Given the description of an element on the screen output the (x, y) to click on. 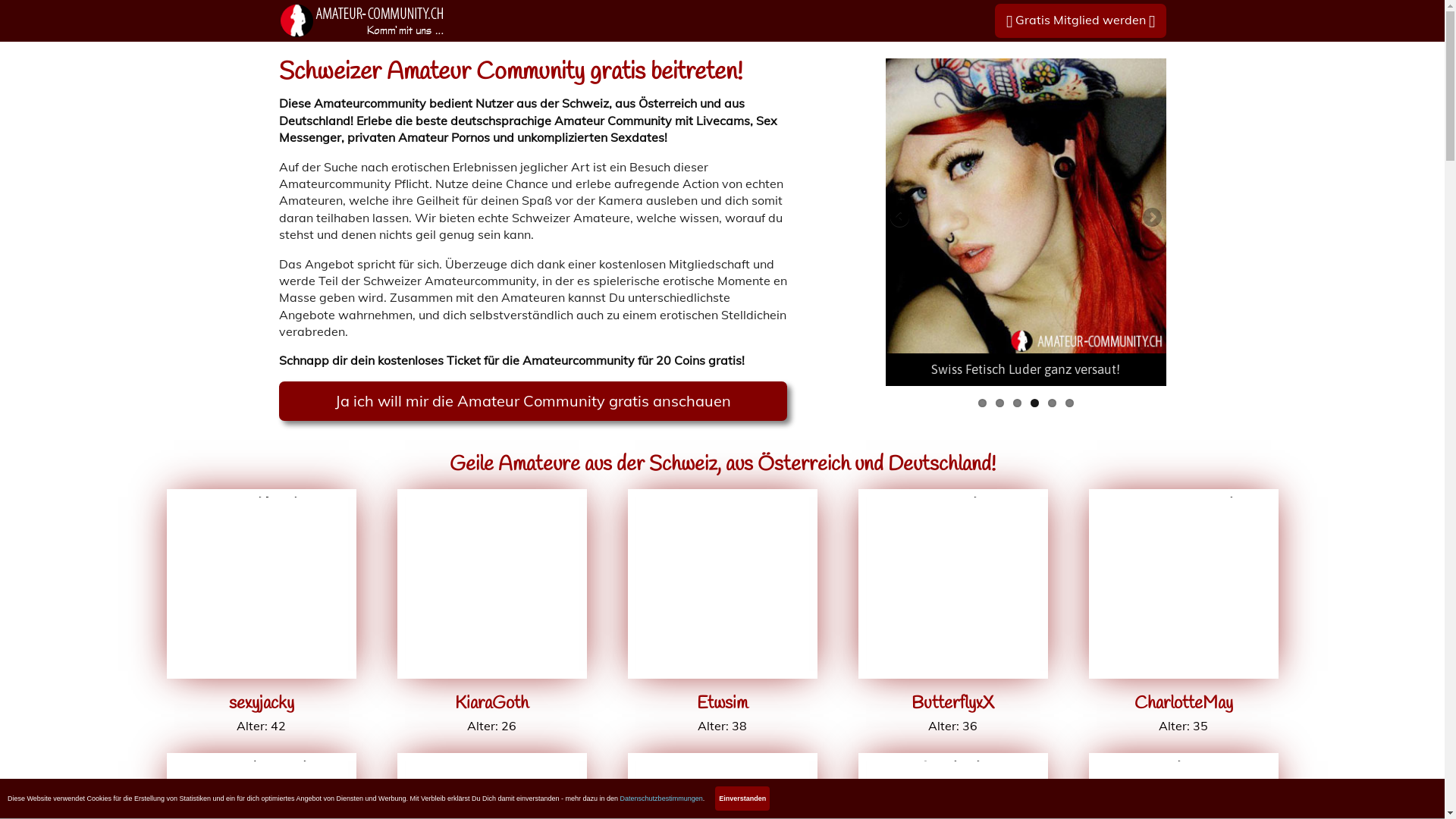
Next Element type: text (1150, 218)
sexyjacky Element type: hover (261, 504)
1 Element type: text (982, 402)
KiaraGoth Element type: hover (491, 504)
2 Element type: text (998, 402)
Beautylicious96 Element type: hover (1183, 768)
6 Element type: text (1068, 402)
3 Element type: text (1017, 402)
Etwsim Element type: hover (722, 504)
CaraliaDeluxe Element type: hover (722, 768)
Datenschutzbestimmungen Element type: text (661, 798)
Ja ich will mir die Amateur Community gratis anschauen Element type: text (533, 400)
ButterflyxX Element type: hover (953, 504)
4 Element type: text (1033, 402)
5 Element type: text (1052, 402)
strapsbunny Element type: hover (261, 768)
Einverstanden Element type: text (742, 798)
AnnabelMassina Element type: hover (491, 768)
Previous Element type: text (899, 218)
JennyStyle Element type: hover (953, 768)
CharlotteMay Element type: hover (1183, 504)
